Given the description of an element on the screen output the (x, y) to click on. 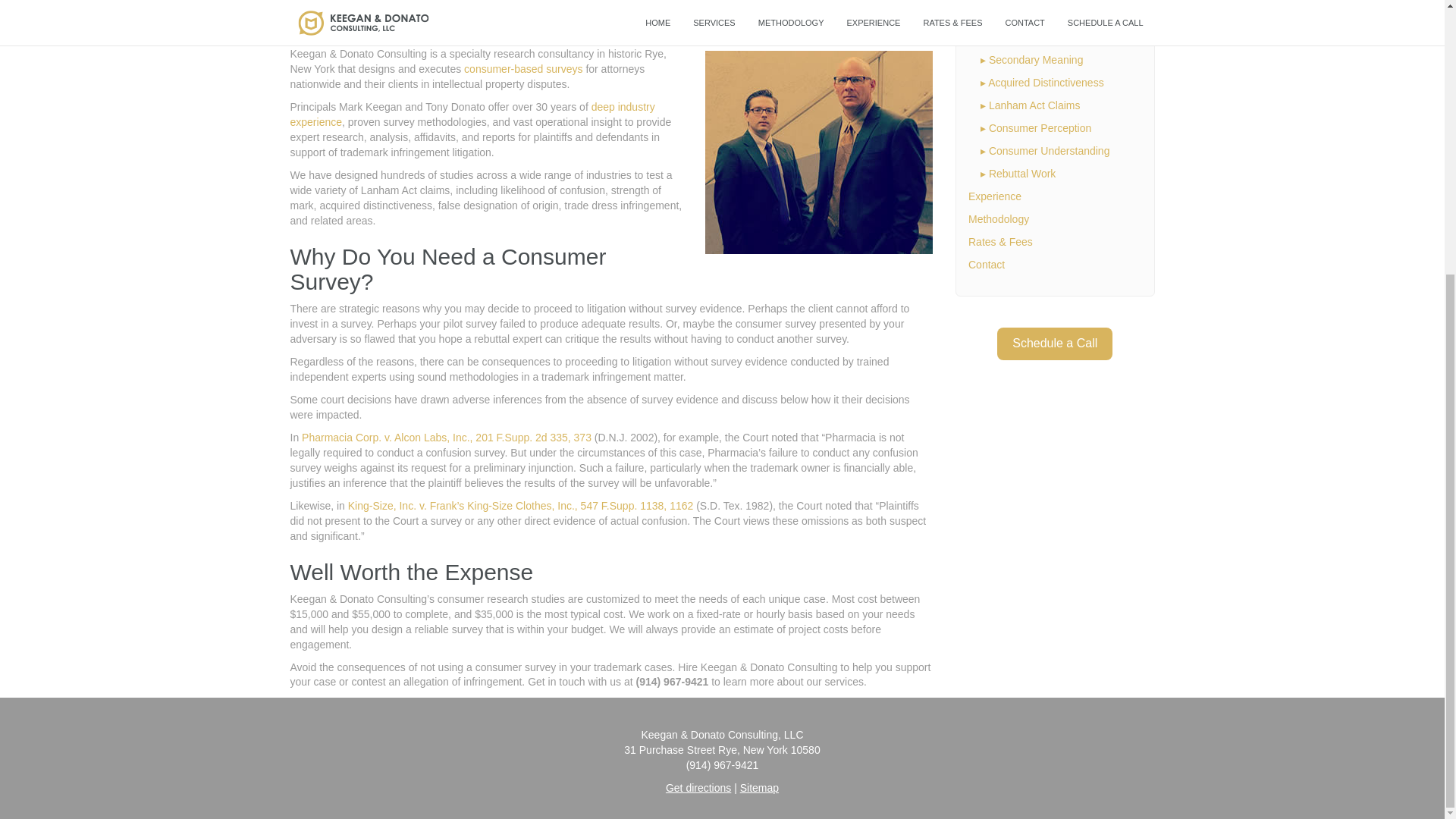
Contact (986, 264)
Rebuttal Work (1021, 173)
Likelihood of Confusion (1043, 14)
Experience (995, 196)
deep industry experience (471, 113)
Consumer Understanding (1048, 150)
Consumer Perception (1039, 128)
Pharmacia Corp. v. Alcon Labs, Inc., 201 F.Supp. 2d 335, 373 (446, 437)
consumer-based surveys (523, 69)
Strength of Mark (1027, 37)
Lanham Act Claims (1034, 105)
Sitemap (758, 787)
Acquired Distinctiveness (1045, 82)
Schedule a Call (1054, 343)
